Given the description of an element on the screen output the (x, y) to click on. 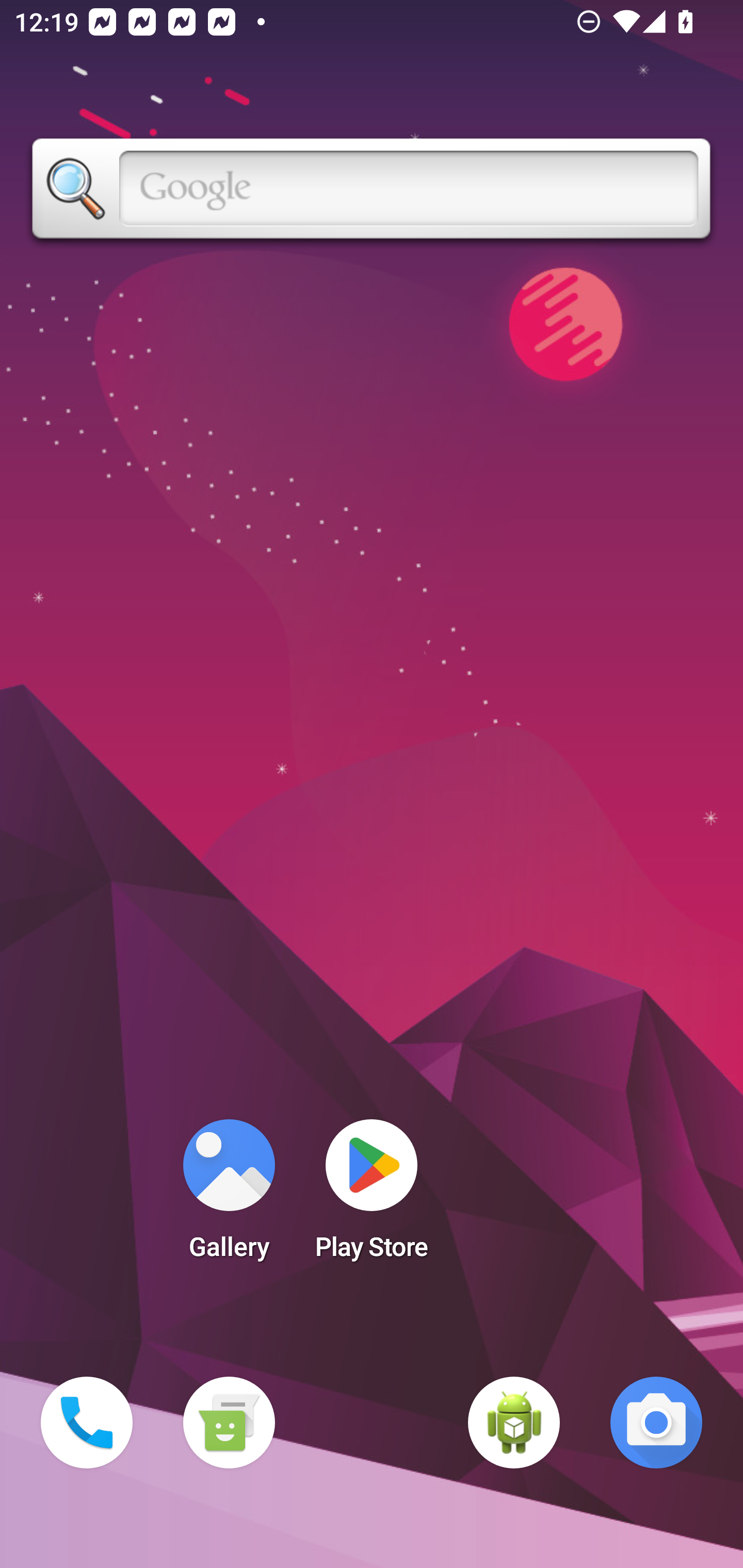
Gallery (228, 1195)
Play Store (371, 1195)
Phone (86, 1422)
Messaging (228, 1422)
WebView Browser Tester (513, 1422)
Camera (656, 1422)
